Given the description of an element on the screen output the (x, y) to click on. 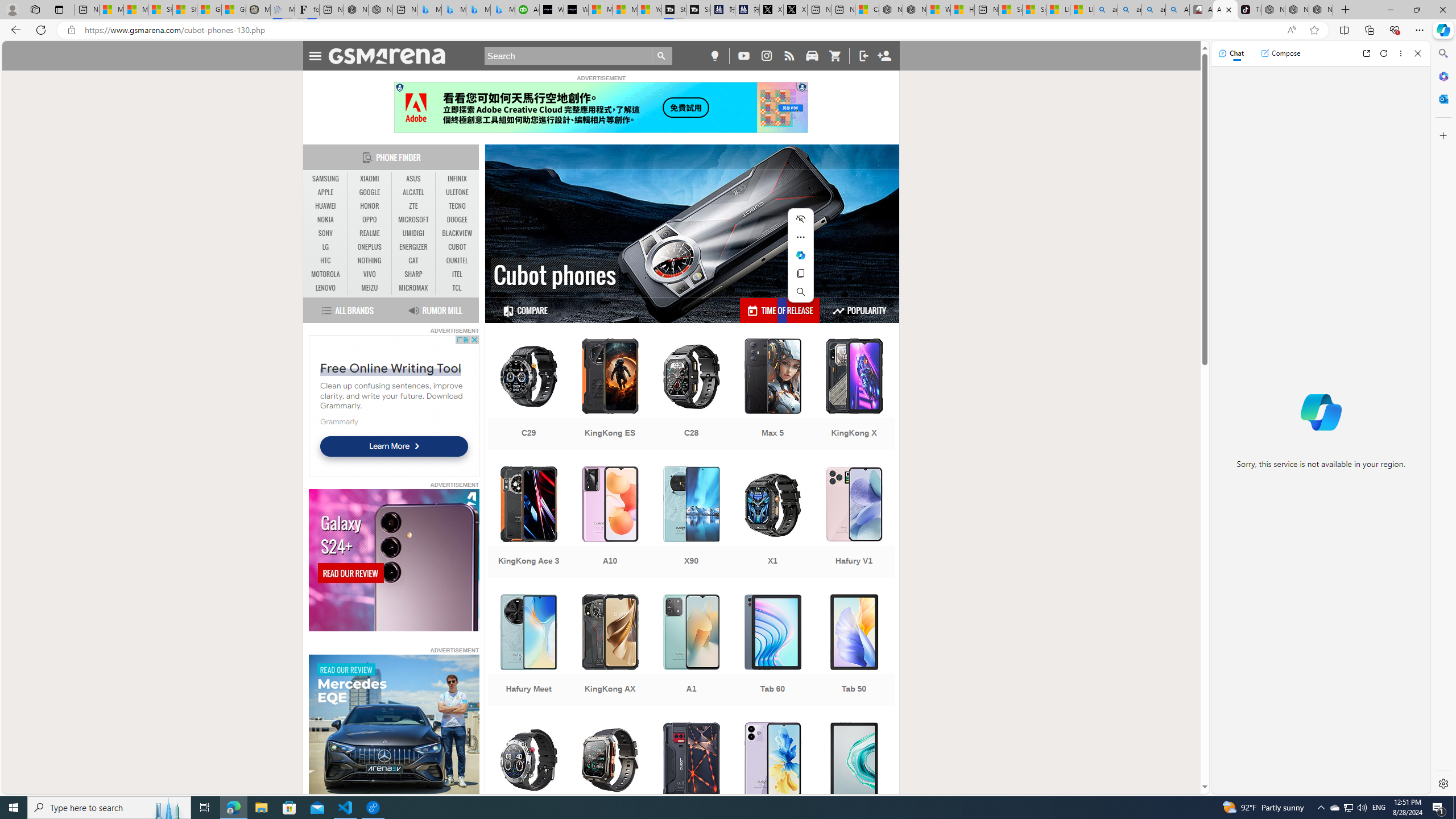
ASUS (413, 178)
ALCATEL (413, 192)
HUAWEI (325, 206)
Nordace - #1 Japanese Best-Seller - Siena Smart Backpack (380, 9)
VIVO (369, 273)
CAT (413, 260)
Accounting Software for Accountants, CPAs and Bookkeepers (526, 9)
